Given the description of an element on the screen output the (x, y) to click on. 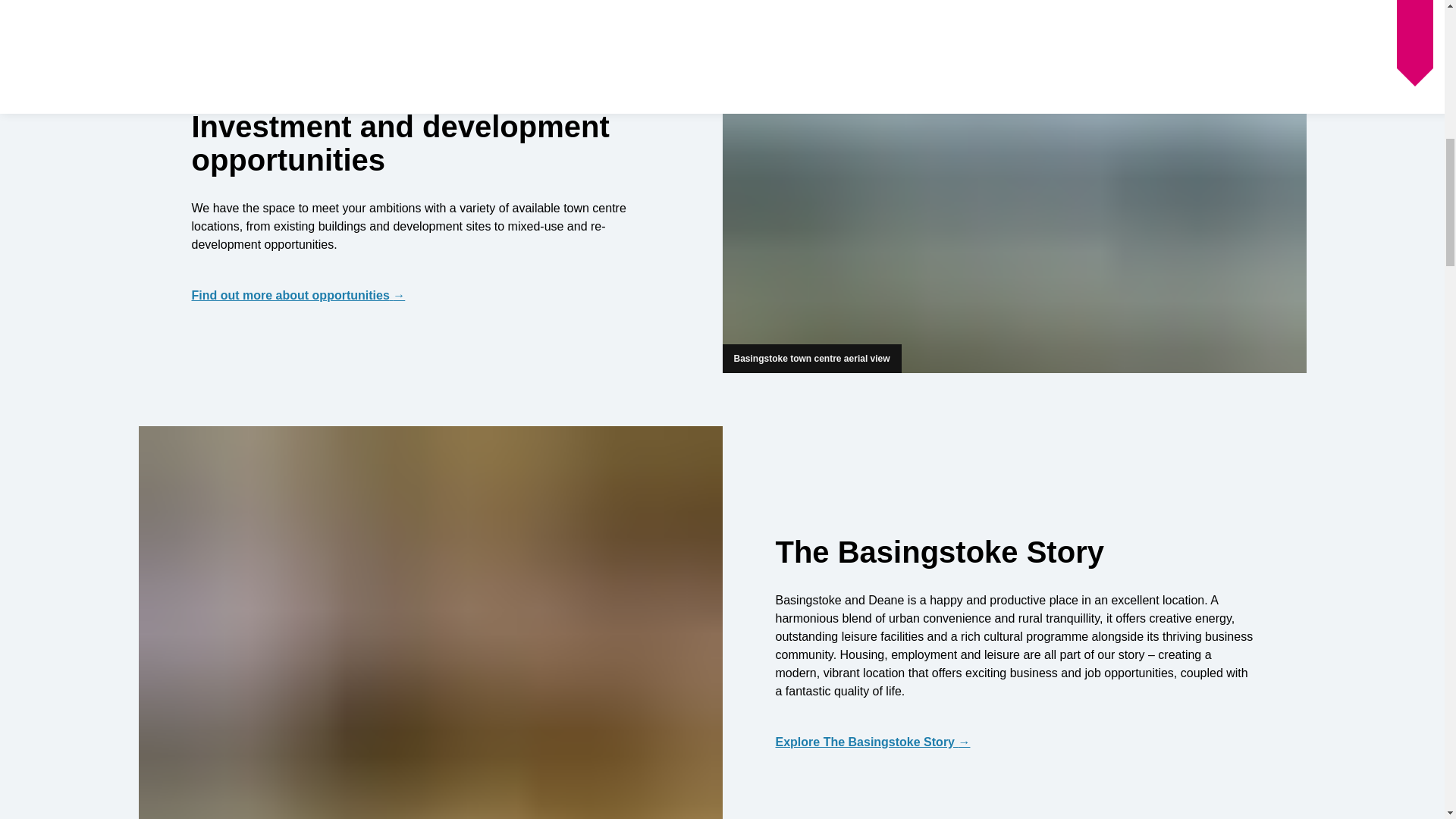
Find out more about opportunities (429, 295)
Explore The Basingstoke Story (1013, 742)
